Given the description of an element on the screen output the (x, y) to click on. 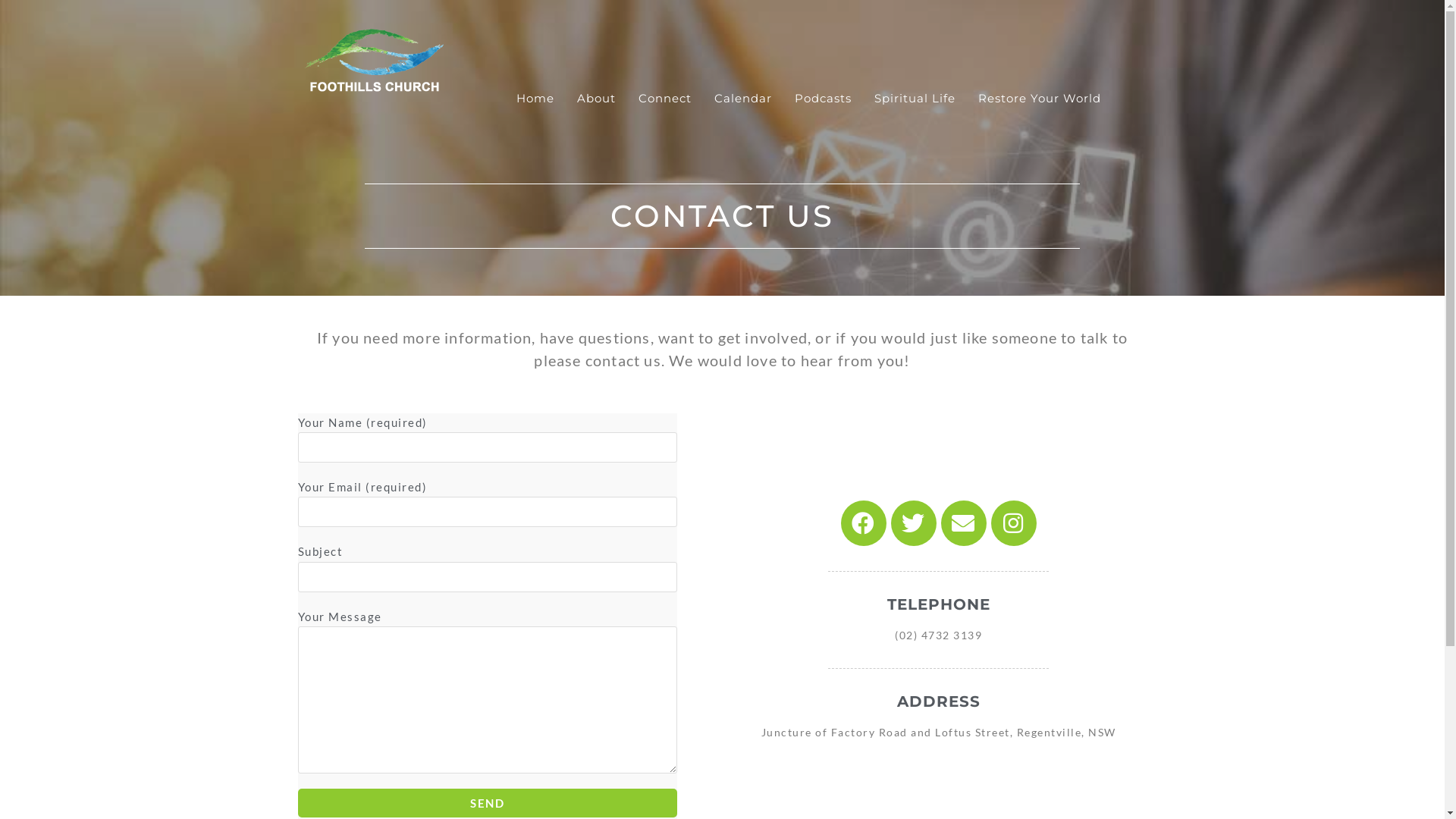
Restore Your World Element type: text (1039, 98)
Home Element type: text (535, 98)
Send Element type: text (486, 802)
Connect Element type: text (664, 98)
Spiritual Life Element type: text (914, 98)
Podcasts Element type: text (822, 98)
Calendar Element type: text (742, 98)
About Element type: text (596, 98)
